Given the description of an element on the screen output the (x, y) to click on. 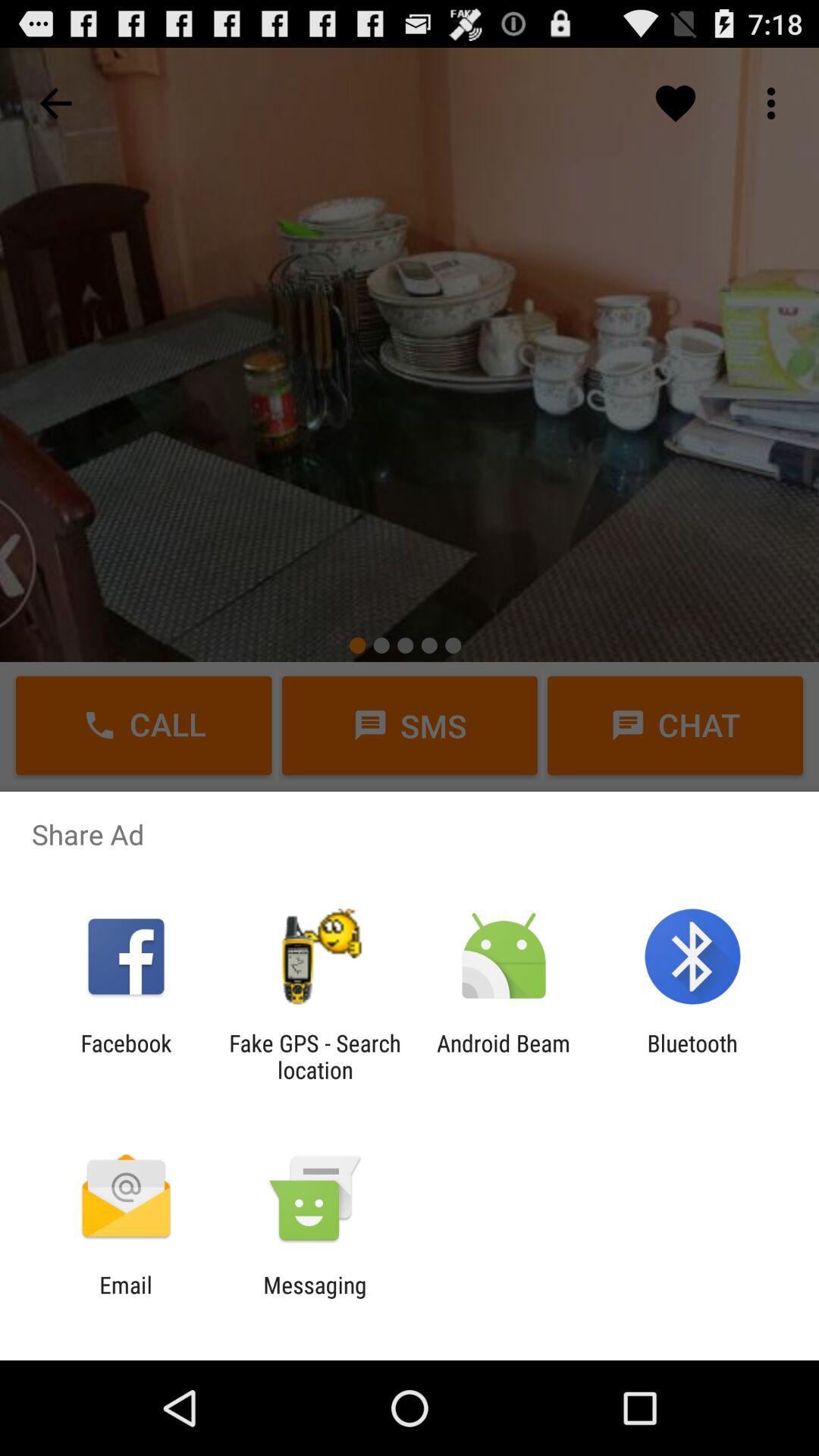
flip until the android beam item (503, 1056)
